Given the description of an element on the screen output the (x, y) to click on. 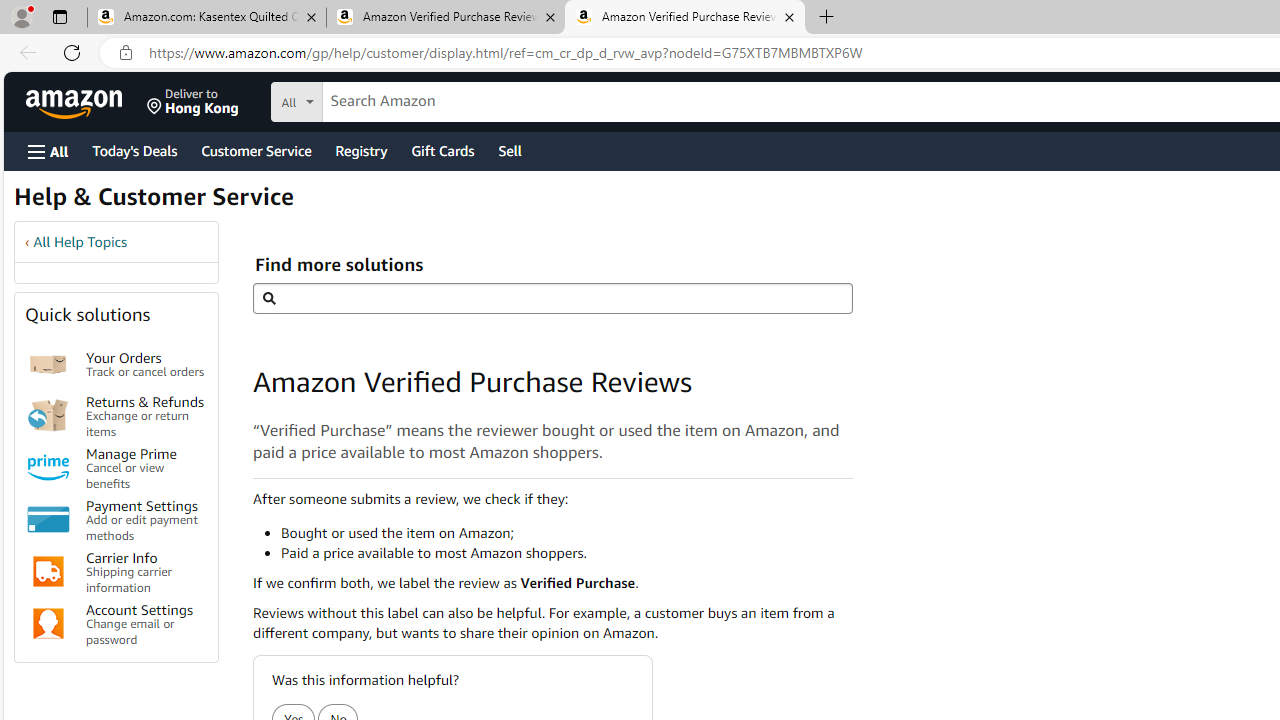
Registry (360, 150)
Payment Settings (48, 520)
Find more solutions (552, 297)
All Help Topics (80, 242)
Carrier Info (48, 571)
Customer Service (256, 150)
Carrier Info (48, 571)
Gift Cards (442, 150)
Your Orders (48, 364)
